Given the description of an element on the screen output the (x, y) to click on. 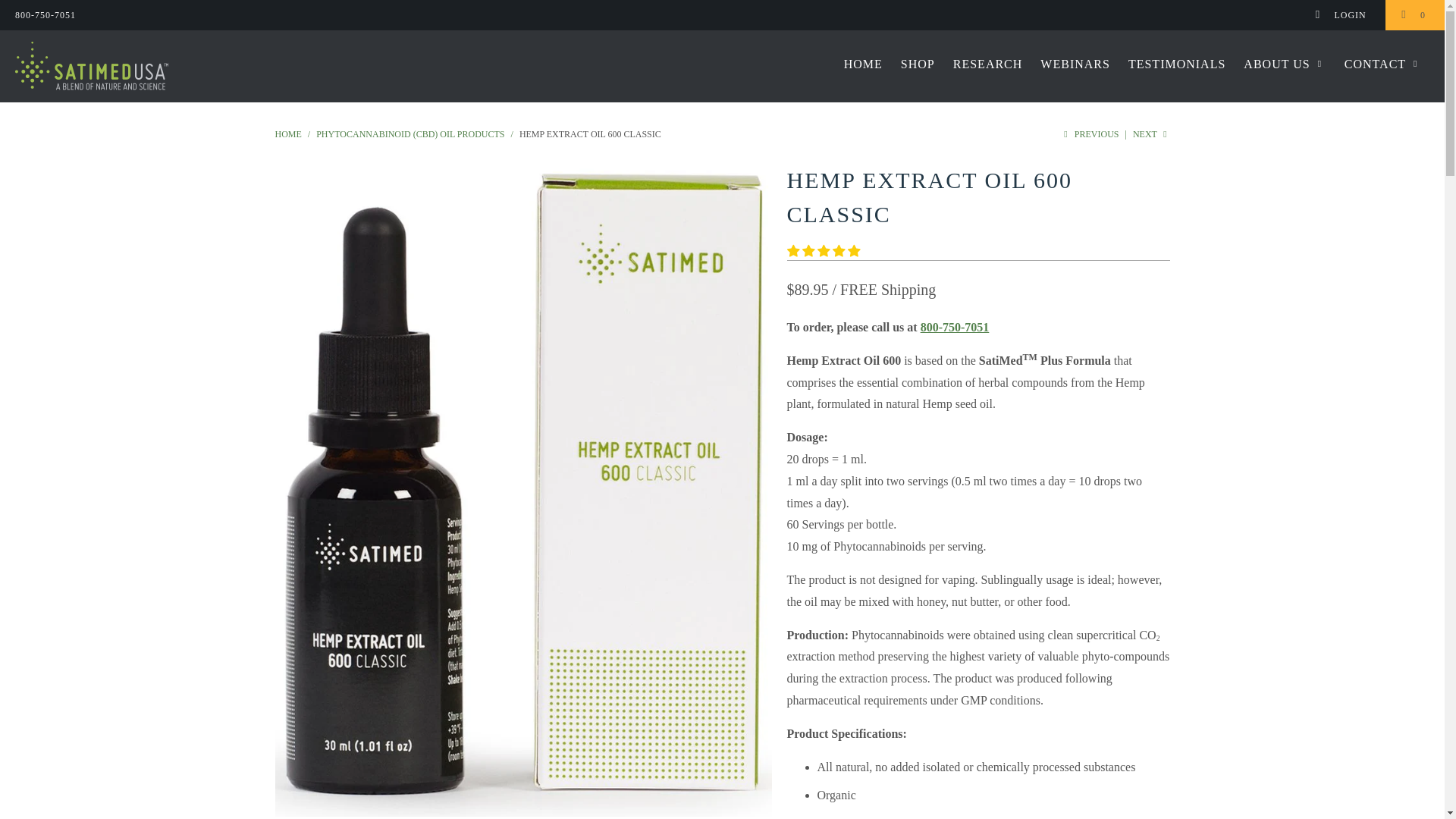
My Account  (1342, 15)
Next (1151, 133)
LOGIN (1342, 15)
SatiMedUSA (122, 66)
Previous (1089, 133)
800-750-7051 (44, 15)
SatiMedUSA (288, 133)
